Given the description of an element on the screen output the (x, y) to click on. 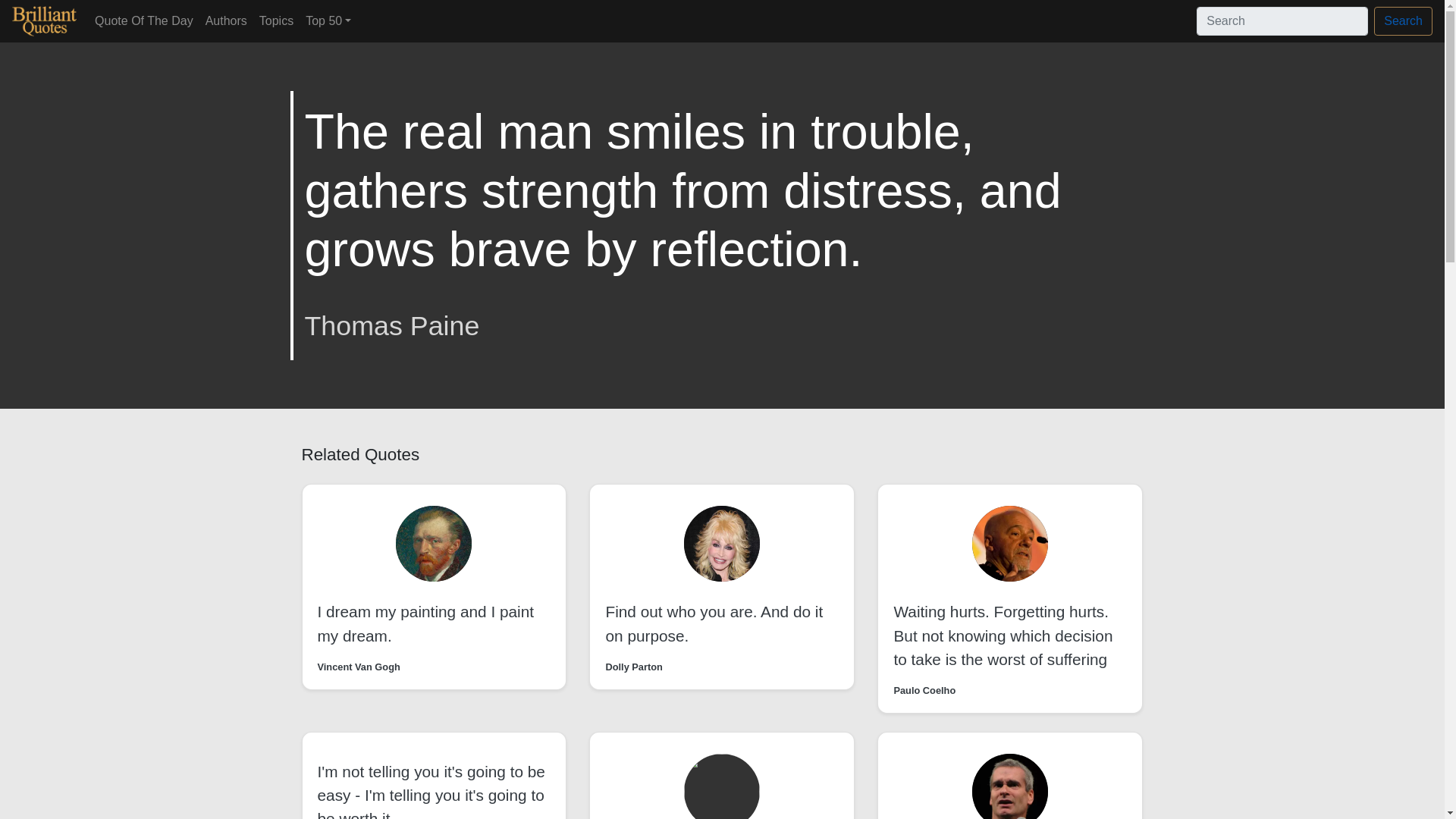
Topics (276, 20)
I dream my painting and I paint my dream. (425, 622)
Top 50 (327, 20)
Paulo Coelho (924, 690)
Dolly Parton (633, 667)
Find out who you are. And do it on purpose. (713, 622)
Vincent Van Gogh (357, 667)
Quote Of The Day (143, 20)
Search (1403, 21)
Authors (226, 20)
